Given the description of an element on the screen output the (x, y) to click on. 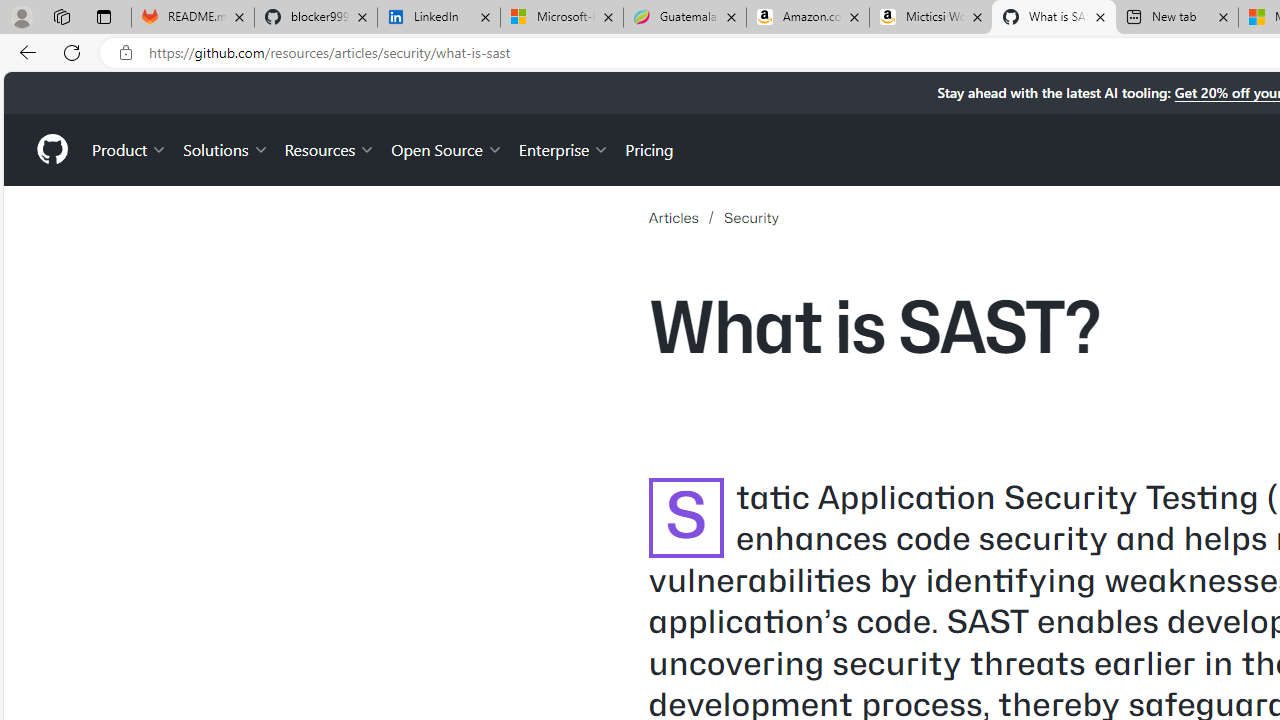
Security (751, 217)
Pricing (649, 148)
Open Source (446, 148)
Articles (672, 217)
Resources (330, 148)
Product (130, 148)
Solutions (225, 148)
Resources (330, 148)
